Given the description of an element on the screen output the (x, y) to click on. 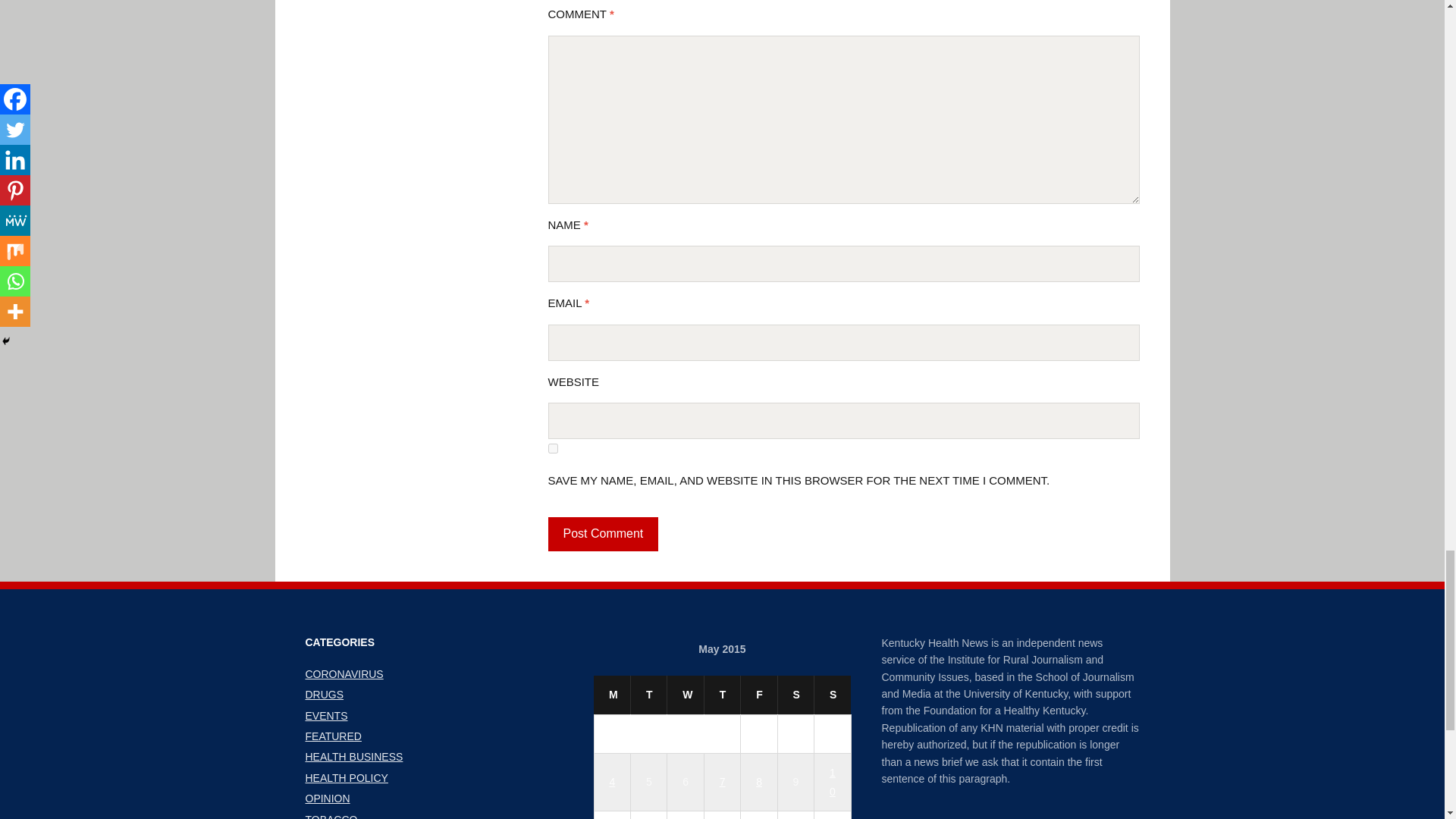
Post Comment (602, 533)
yes (552, 448)
